Given the description of an element on the screen output the (x, y) to click on. 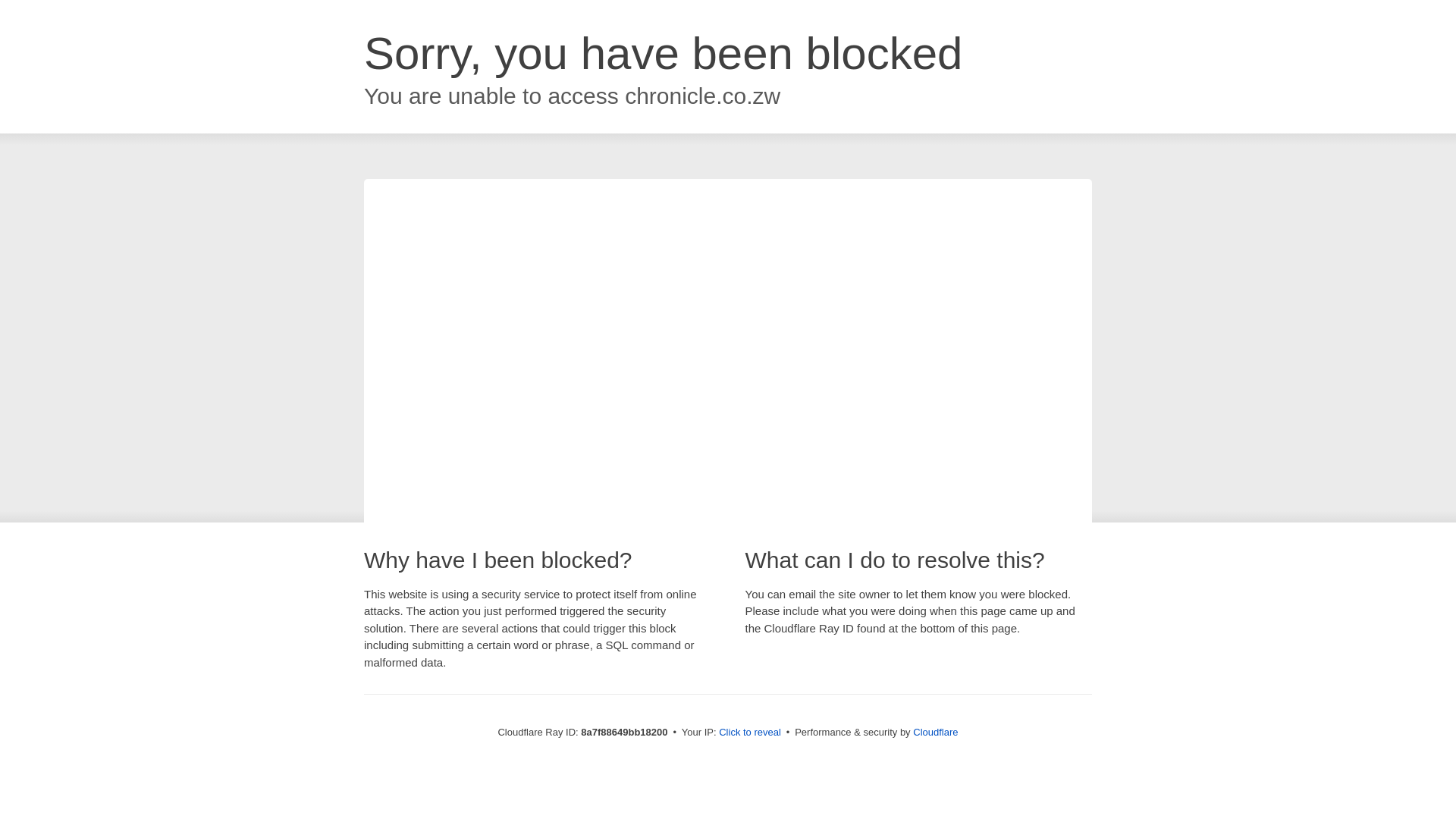
Cloudflare (935, 731)
Click to reveal (749, 732)
